Given the description of an element on the screen output the (x, y) to click on. 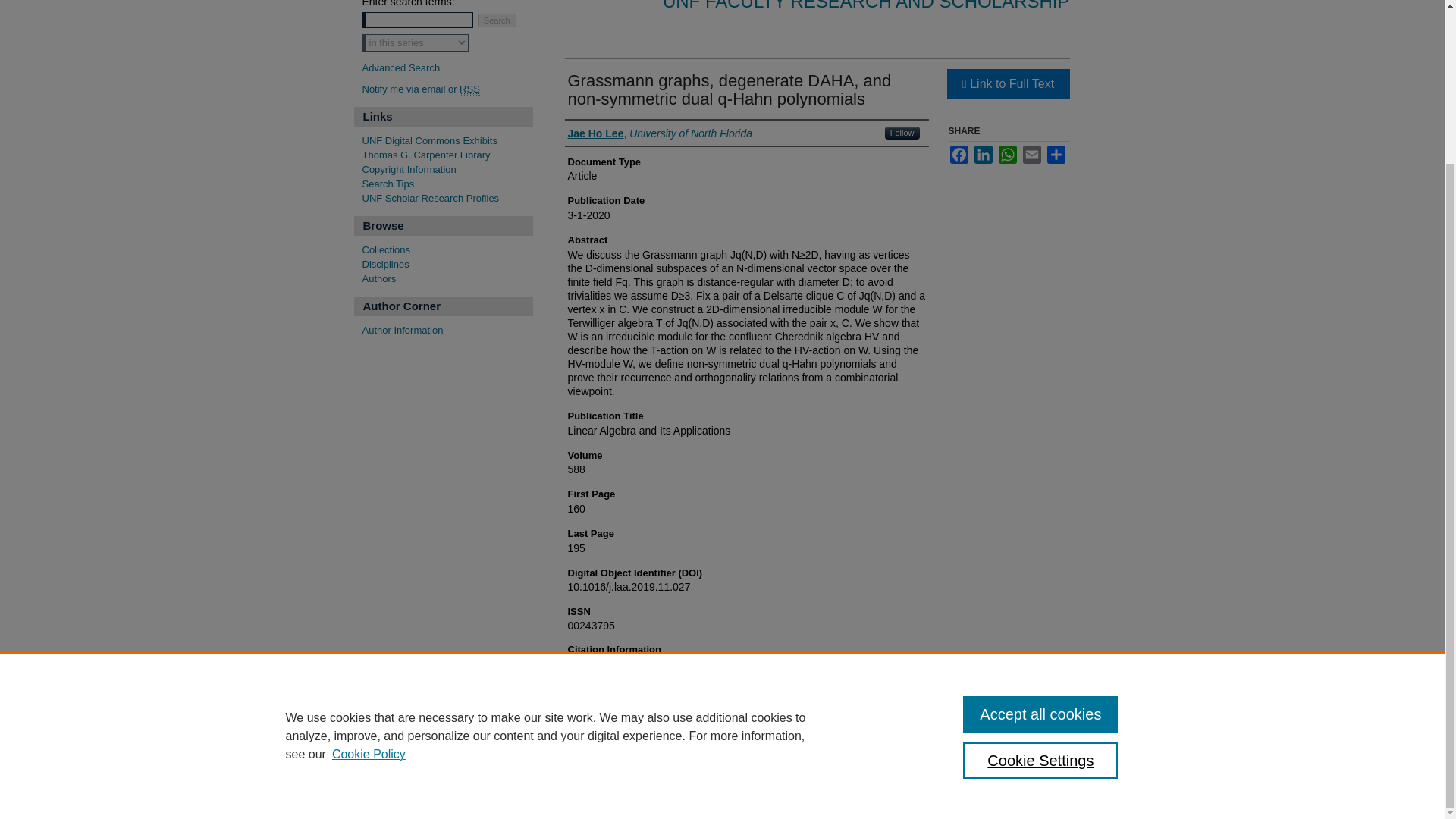
UNF Digital Commons Exhibits (447, 141)
Email or RSS Notifications (447, 89)
UNF FACULTY RESEARCH AND SCHOLARSHIP (866, 5)
Follow Jae Ho Lee (902, 132)
Search (496, 19)
Jae Ho Lee, University of North Florida (659, 133)
UNF Scholar Research Profiles (447, 198)
Facebook (958, 154)
Search (496, 19)
Link to Full Text (1007, 83)
Really Simple Syndication (470, 89)
WhatsApp (1006, 154)
Advanced Search (401, 66)
Thomas G. Carpenter Library (447, 155)
LinkedIn (982, 154)
